Given the description of an element on the screen output the (x, y) to click on. 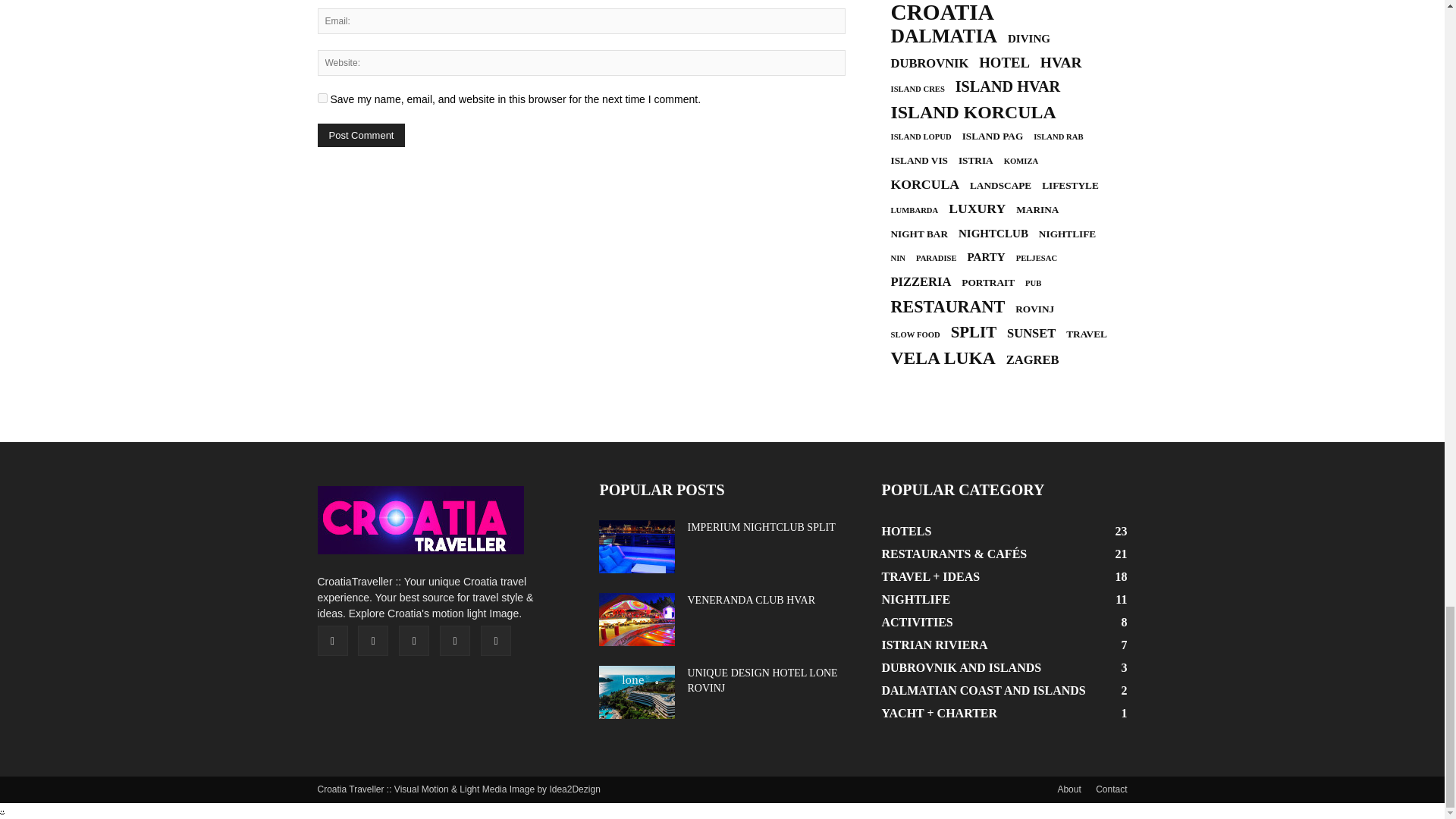
Post Comment (360, 135)
yes (321, 98)
